Given the description of an element on the screen output the (x, y) to click on. 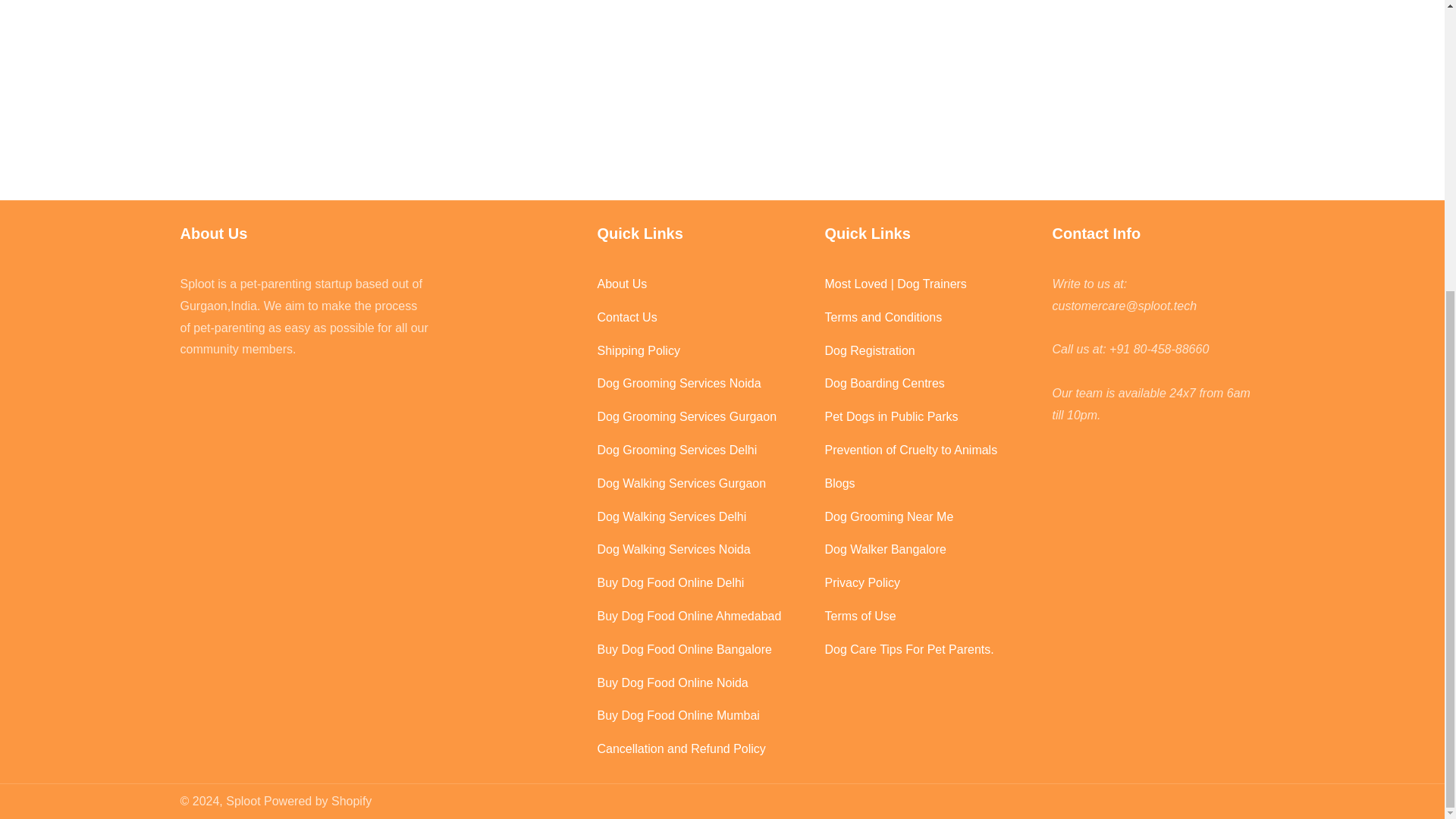
About Us (702, 284)
